Given the description of an element on the screen output the (x, y) to click on. 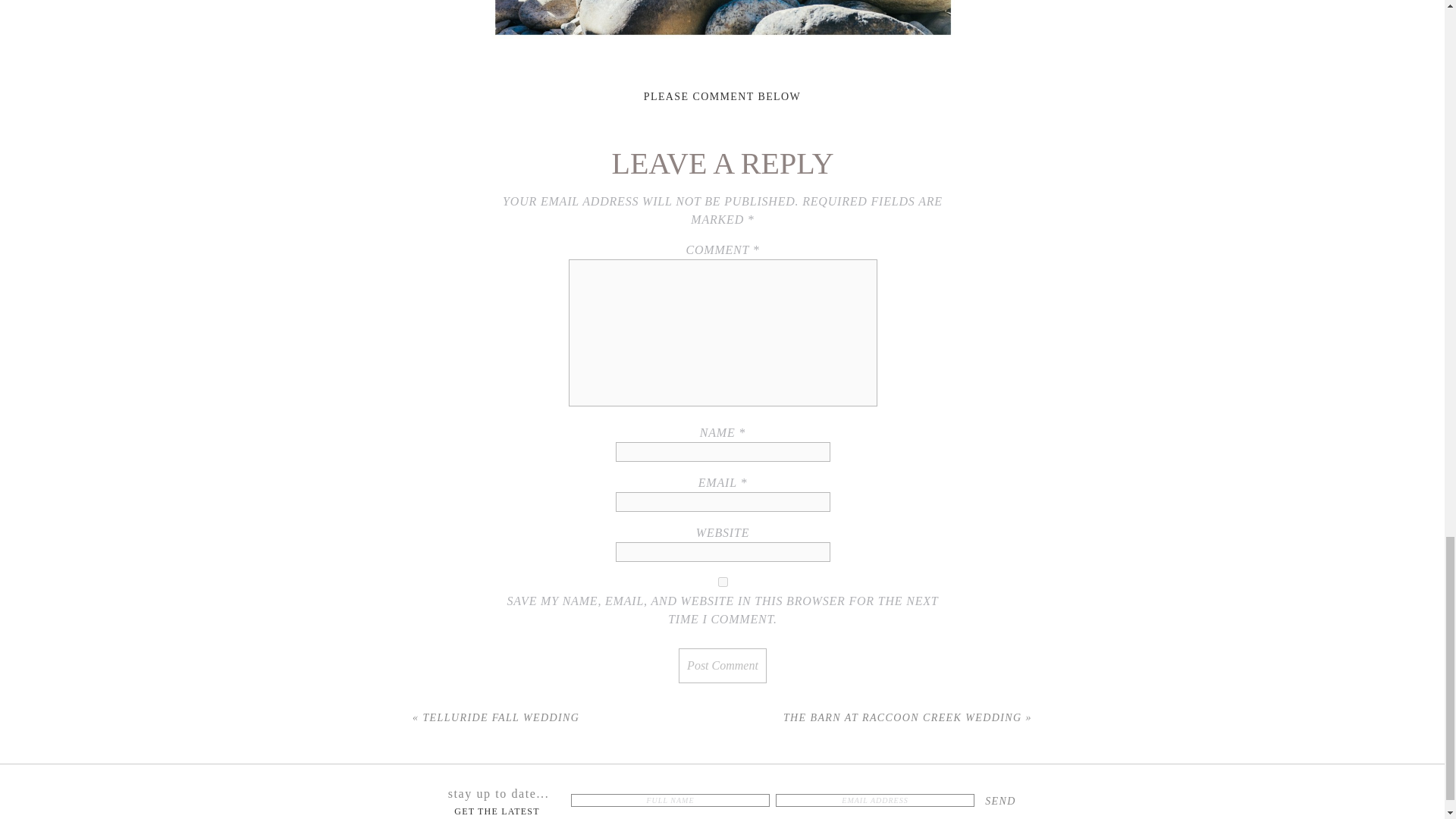
Post Comment (722, 665)
TELLURIDE FALL WEDDING (500, 717)
THE BARN AT RACCOON CREEK WEDDING (902, 717)
yes (722, 582)
Post Comment (722, 665)
SEND (1000, 801)
PLEASE COMMENT BELOW (721, 96)
